Given the description of an element on the screen output the (x, y) to click on. 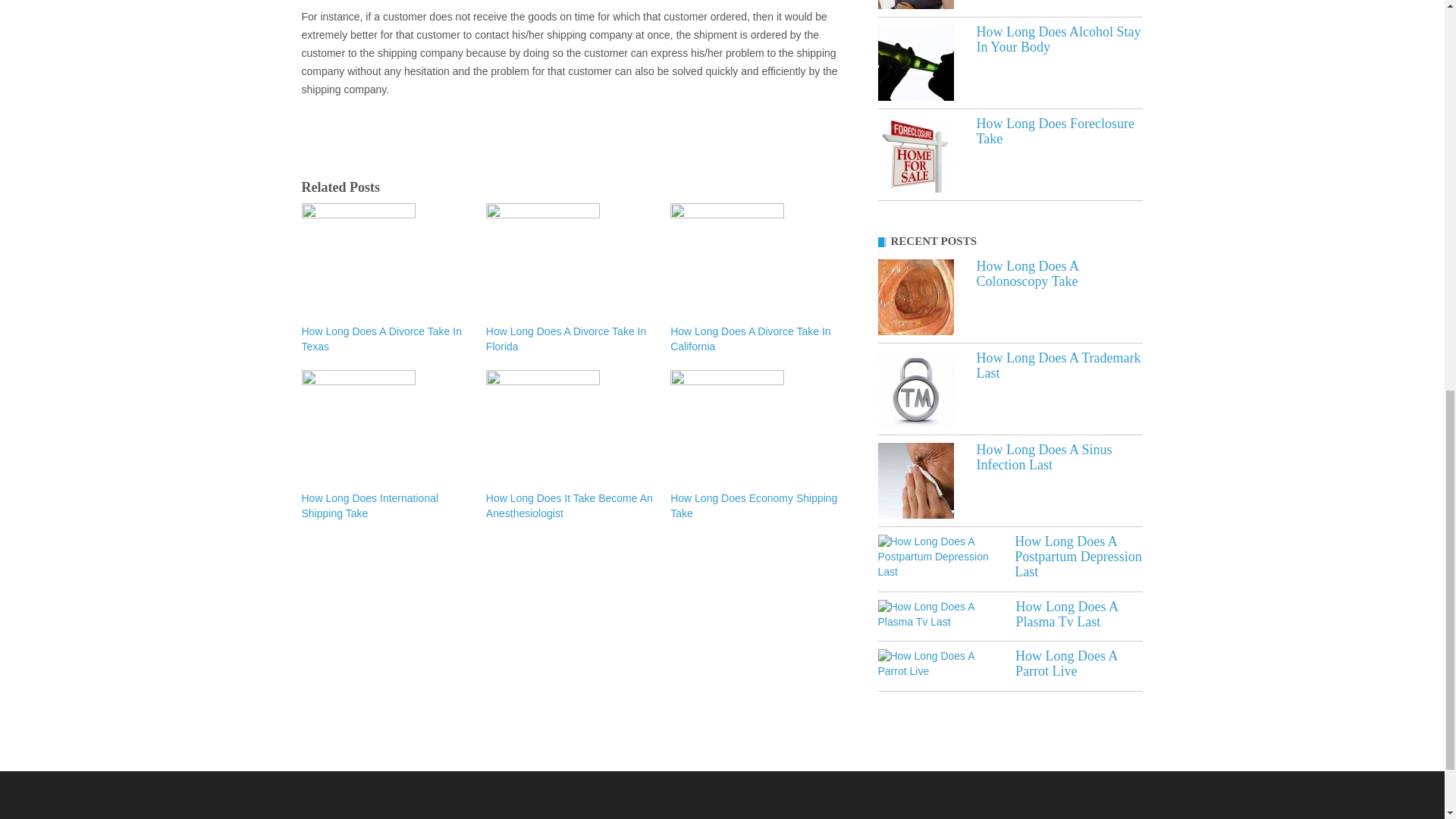
How Long Does Alcohol Stay In Your Body (1058, 39)
How Long Does A Divorce Take In Florida (570, 339)
How Long Does Alcohol Stay In Your Body (1058, 39)
How Long Does A Colonoscopy Take (1027, 273)
How Long Does A Trademark Last (915, 388)
How Long Does Foreclosure Take (915, 154)
How Long Does Foreclosure Take (1055, 131)
How Long Does A Colonoscopy Take (915, 296)
How Long Does A Sinus Infection Last (1044, 457)
How Long Does Alcohol Stay In Your Body (915, 62)
How Long Does A Divorce Take In California (754, 339)
How Long Does Spotting Last (915, 4)
How Long Does A Trademark Last (1058, 365)
How Long Does A Divorce Take In Texas (385, 339)
How Long Does Foreclosure Take (1055, 131)
